Given the description of an element on the screen output the (x, y) to click on. 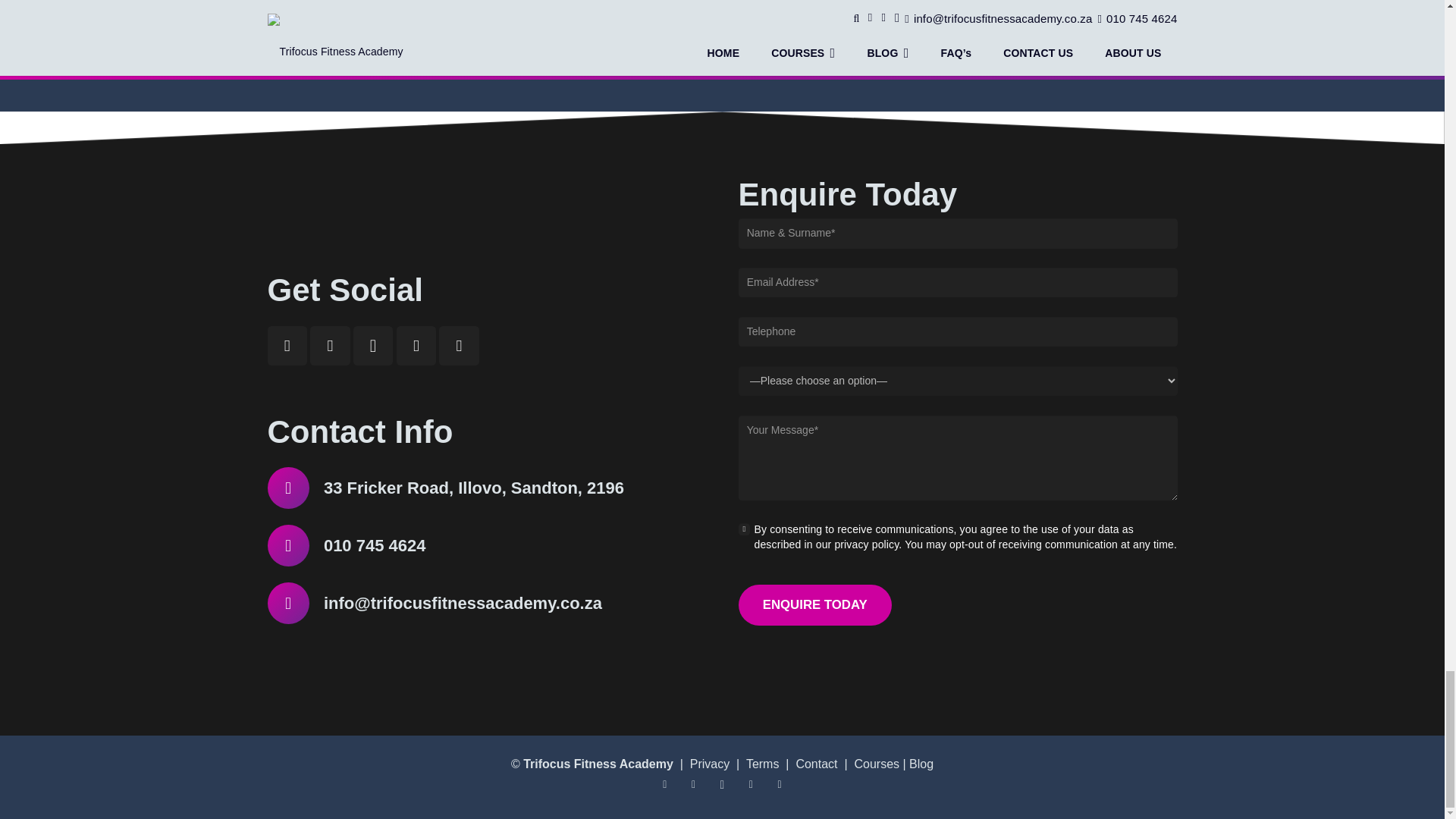
Enquire Today (814, 604)
1 (744, 529)
YouTube (692, 784)
Calendly (459, 345)
Facebook (664, 784)
Instagram (722, 784)
YouTube (330, 345)
WhatsApp (416, 345)
Facebook (286, 345)
WhatsApp (751, 784)
